Given the description of an element on the screen output the (x, y) to click on. 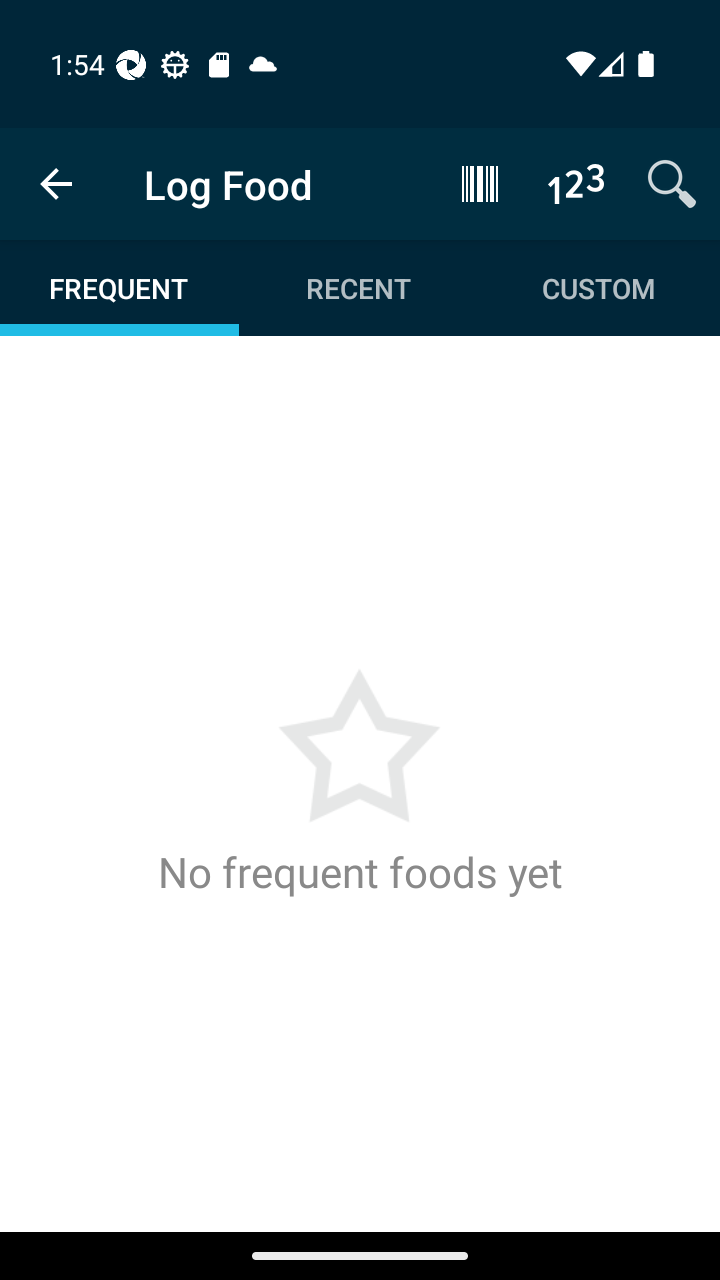
Navigate up (56, 184)
Barcode scanner (479, 183)
Add Quick Calories (575, 183)
Search database (672, 183)
FREQUENT (119, 287)
RECENT (358, 287)
CUSTOM (598, 287)
